Given the description of an element on the screen output the (x, y) to click on. 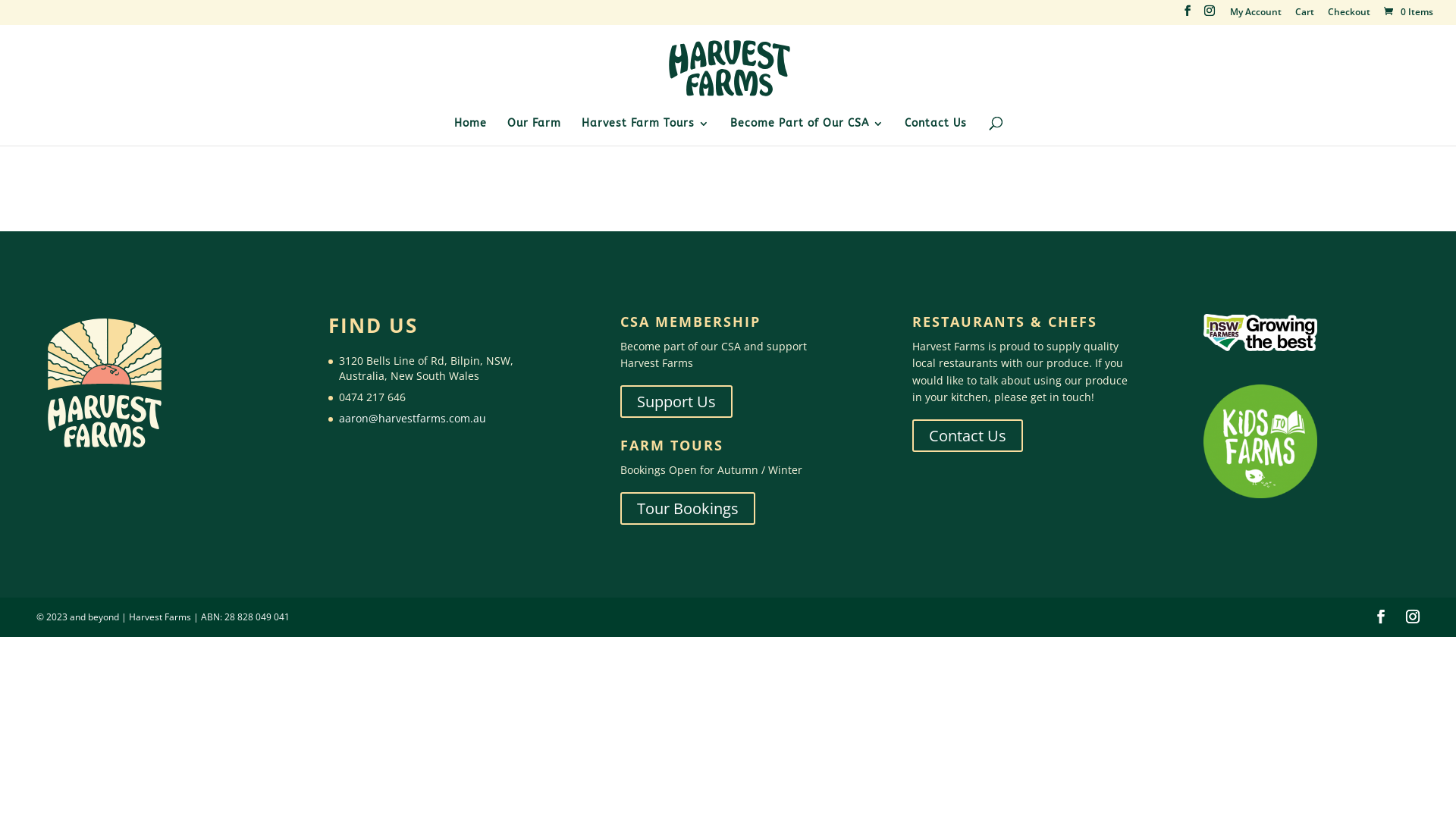
Tour Bookings Element type: text (687, 508)
Home Element type: text (469, 131)
Contact Us Element type: text (934, 131)
Cart Element type: text (1304, 15)
Harvest Farm Tours Element type: text (644, 131)
Our Farm Element type: text (533, 131)
aaron@harvestfarms.com.au Element type: text (412, 418)
0 Items Element type: text (1407, 11)
Support Us Element type: text (676, 401)
Checkout Element type: text (1348, 15)
My Account Element type: text (1255, 15)
Contact Us Element type: text (967, 435)
Become Part of Our CSA Element type: text (806, 131)
